Given the description of an element on the screen output the (x, y) to click on. 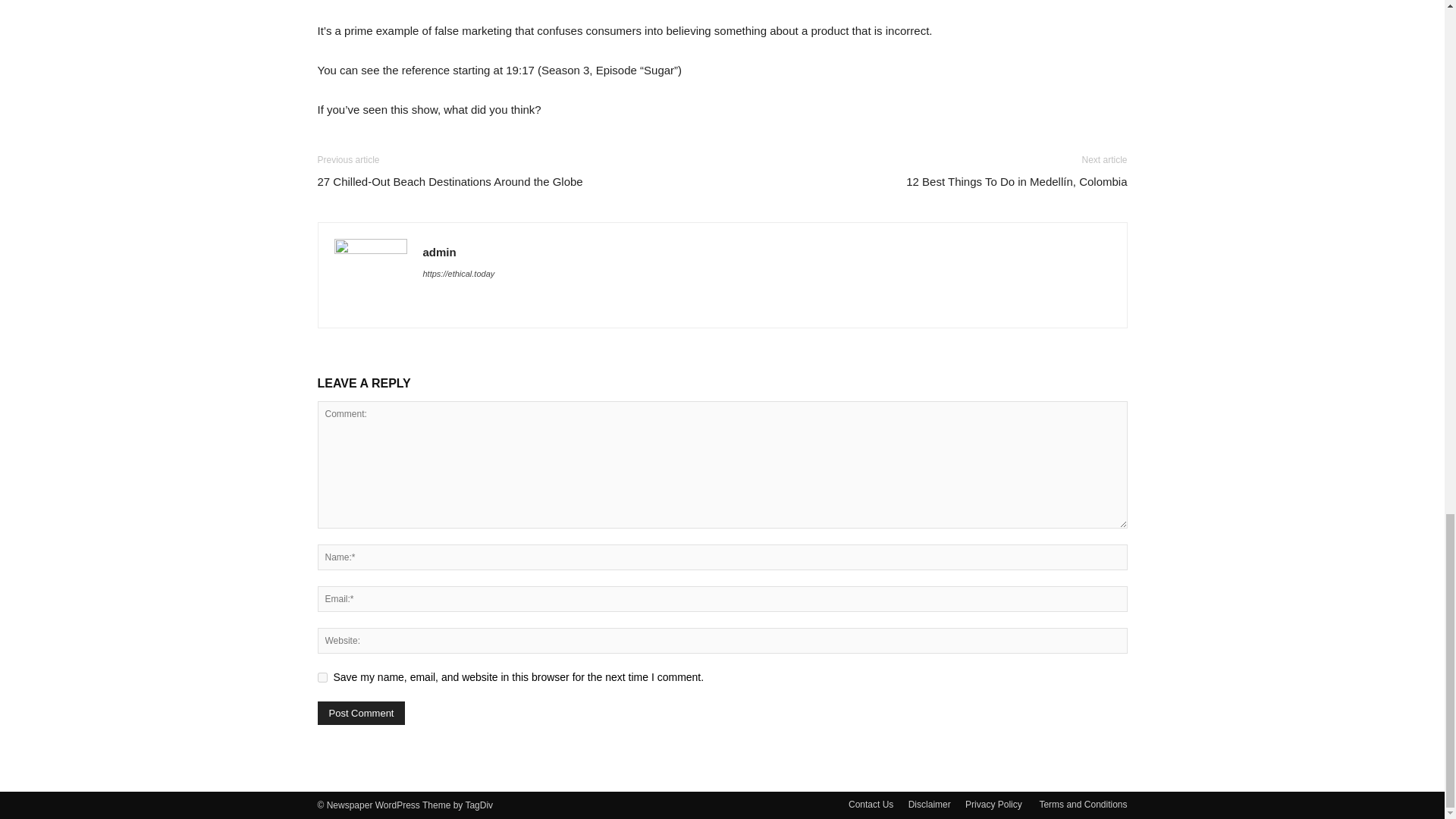
yes (321, 677)
Post Comment (360, 712)
